Given the description of an element on the screen output the (x, y) to click on. 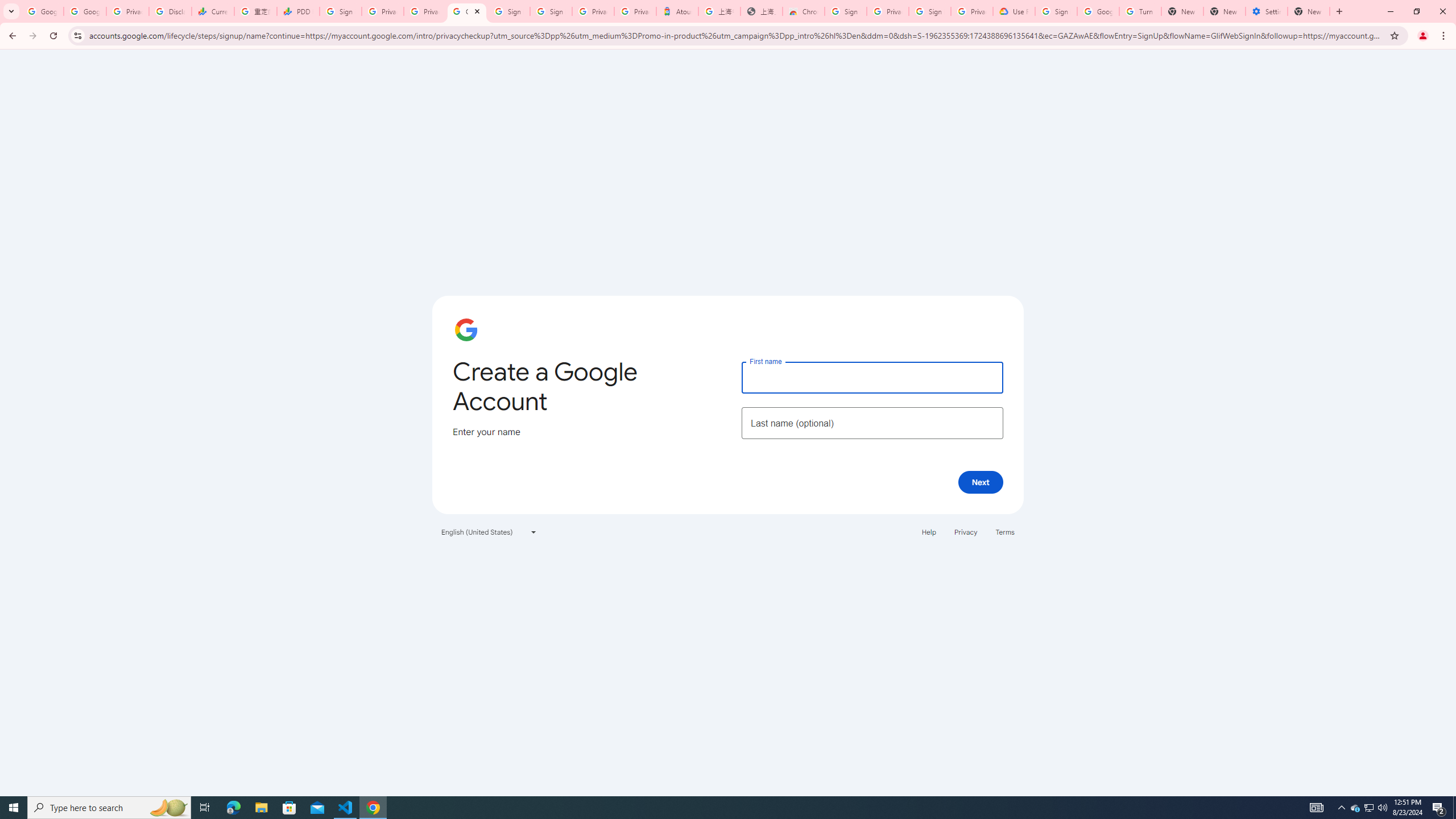
Google Account Help (1097, 11)
Sign in - Google Accounts (550, 11)
Sign in - Google Accounts (845, 11)
Close (476, 11)
Next (980, 481)
Privacy Checkup (424, 11)
Create your Google Account (467, 11)
Sign in - Google Accounts (930, 11)
View site information (77, 35)
Back (10, 35)
New Tab (1338, 11)
